Given the description of an element on the screen output the (x, y) to click on. 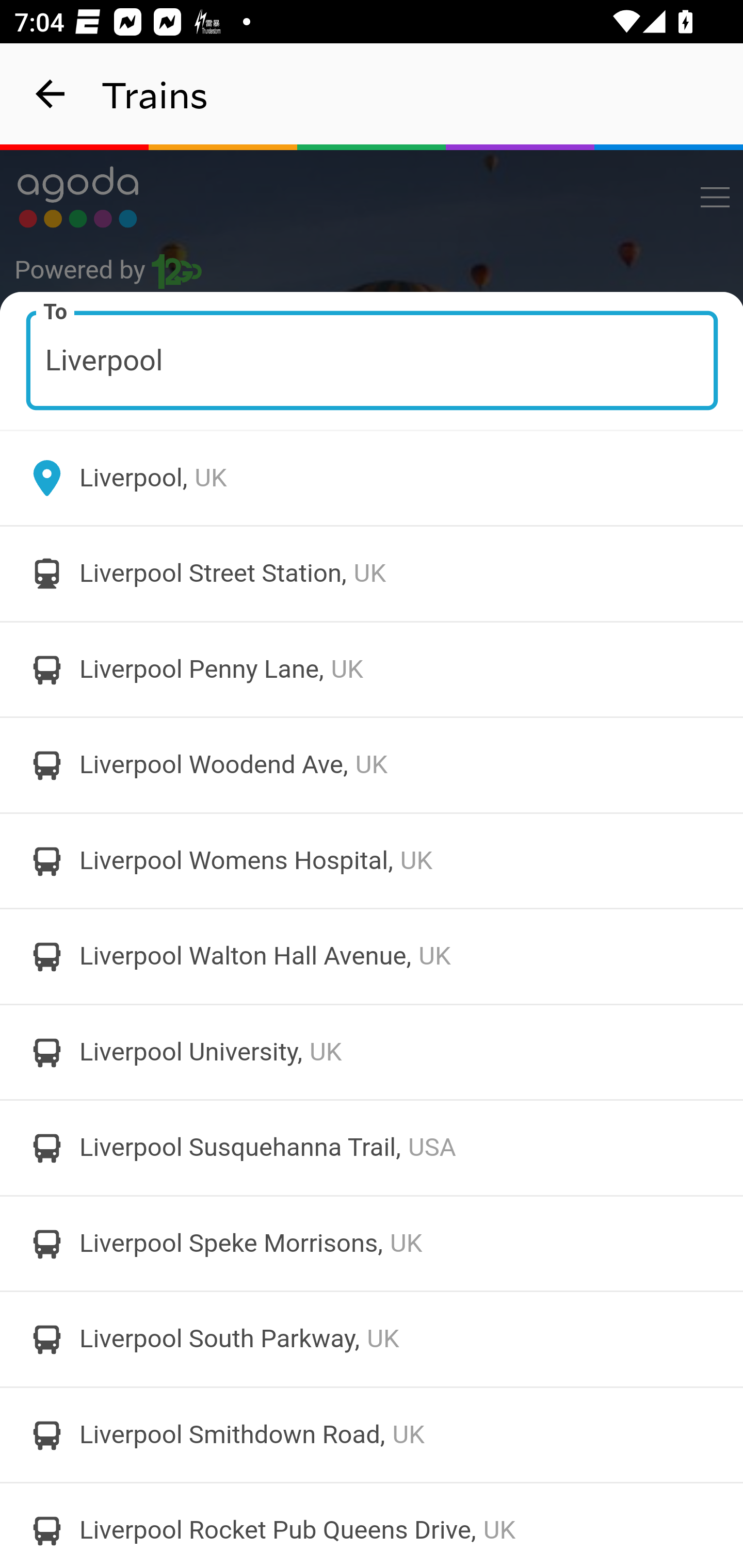
navigation_button (50, 93)
Liverpool (372, 359)
Liverpool,UK (371, 477)
Liverpool Street Station,UK (371, 573)
Liverpool Penny Lane,UK (371, 669)
Liverpool Woodend Ave,UK (371, 764)
Liverpool Womens Hospital,UK (371, 860)
Liverpool Walton Hall Avenue,UK (371, 956)
Liverpool University,UK (371, 1051)
Liverpool Susquehanna Trail,USA (371, 1147)
Liverpool Speke Morrisons,UK (371, 1243)
Liverpool South Parkway,UK (371, 1339)
Liverpool Smithdown Road,UK (371, 1434)
Liverpool Rocket Pub Queens Drive,UK (371, 1524)
